Given the description of an element on the screen output the (x, y) to click on. 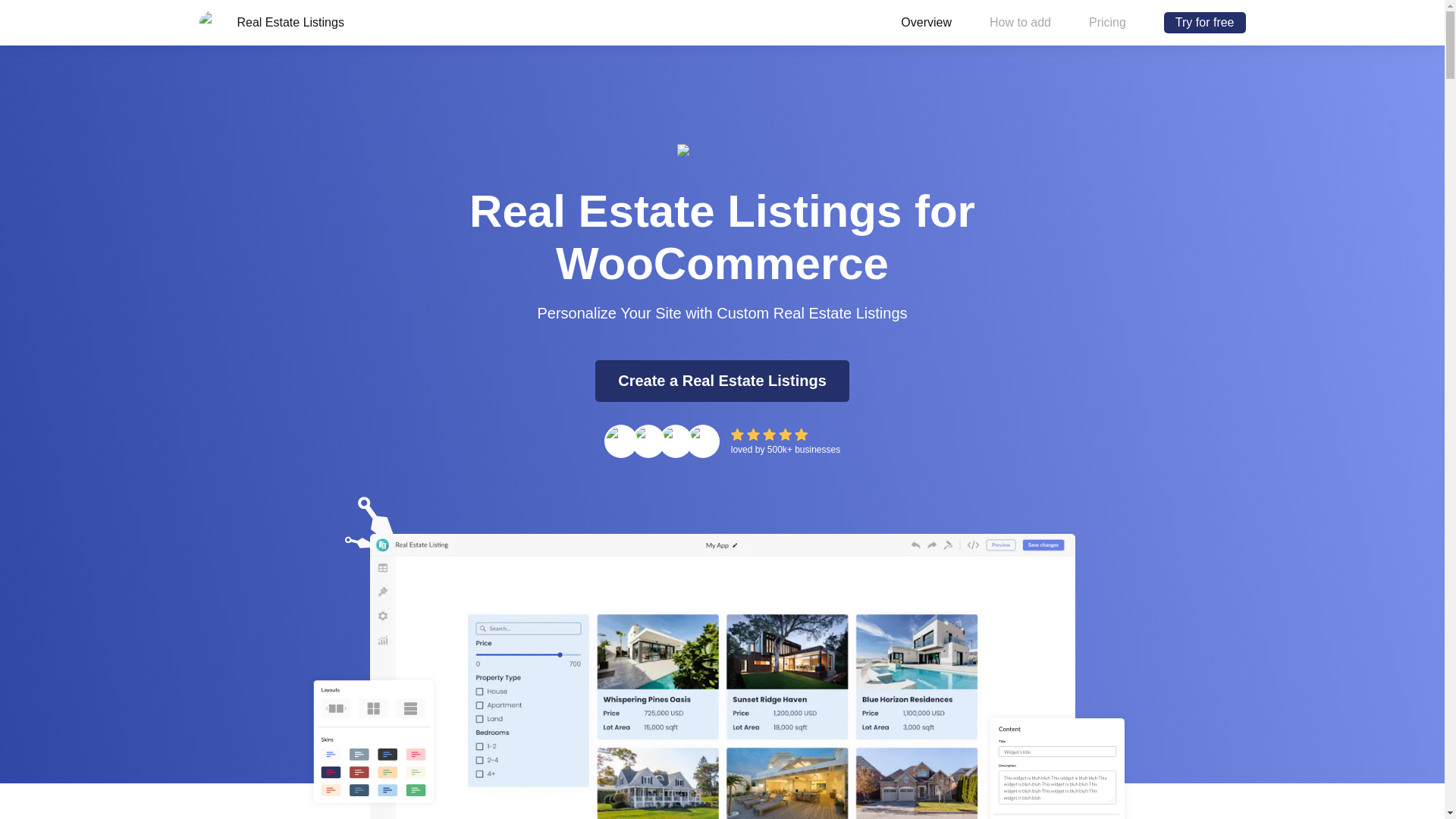
Create a Real Estate Listings for WooCommerce (721, 381)
Free Real Estate Listings for WooCommerce (1204, 22)
Solutions (493, 21)
Widgets (334, 21)
Pricing (412, 21)
